Given the description of an element on the screen output the (x, y) to click on. 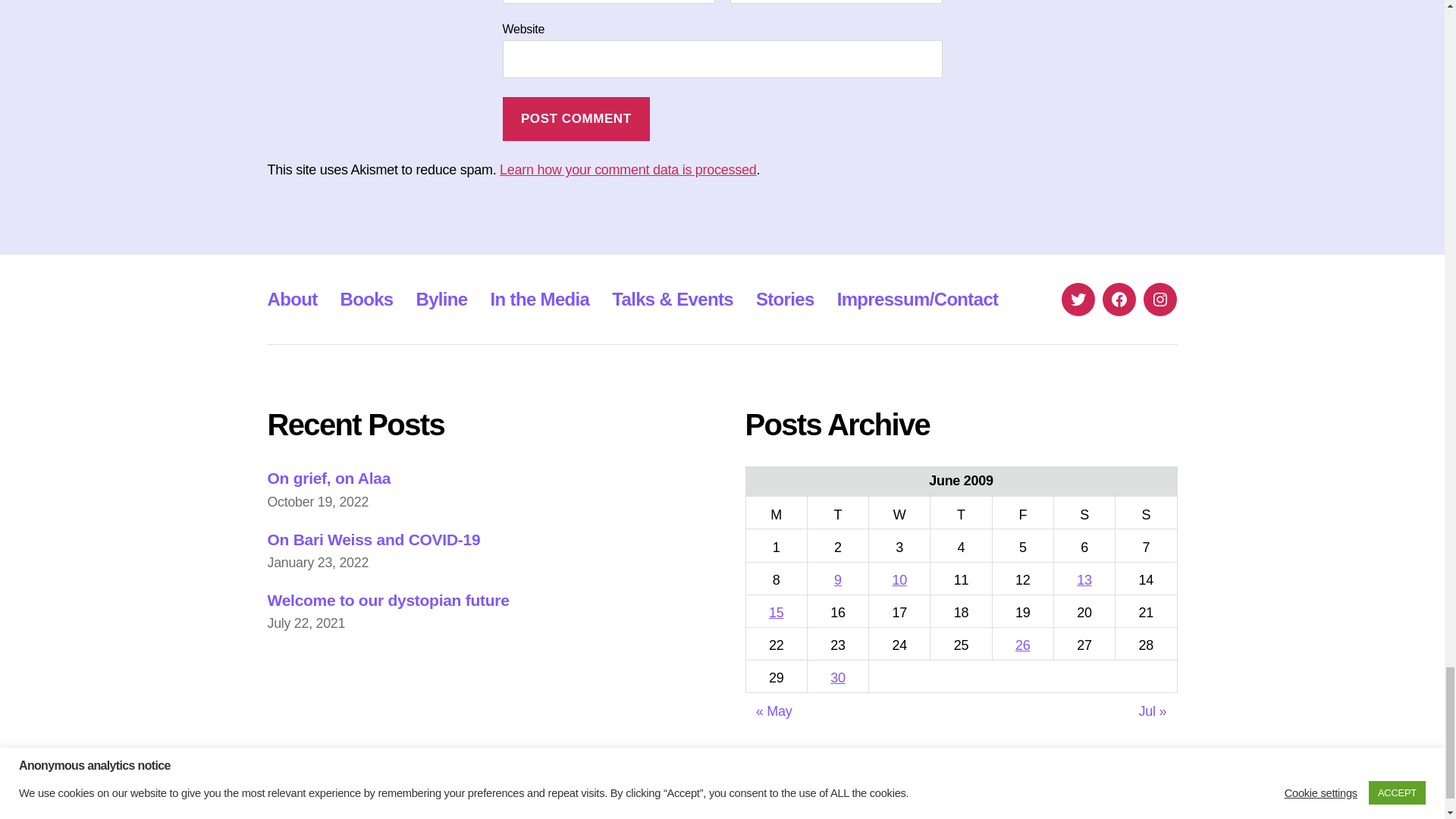
Post Comment (575, 119)
Saturday (1083, 512)
Tuesday (836, 512)
Twitter (1077, 299)
Sunday (1145, 512)
Friday (1021, 512)
Monday (775, 512)
Wednesday (899, 512)
Thursday (960, 512)
